Given the description of an element on the screen output the (x, y) to click on. 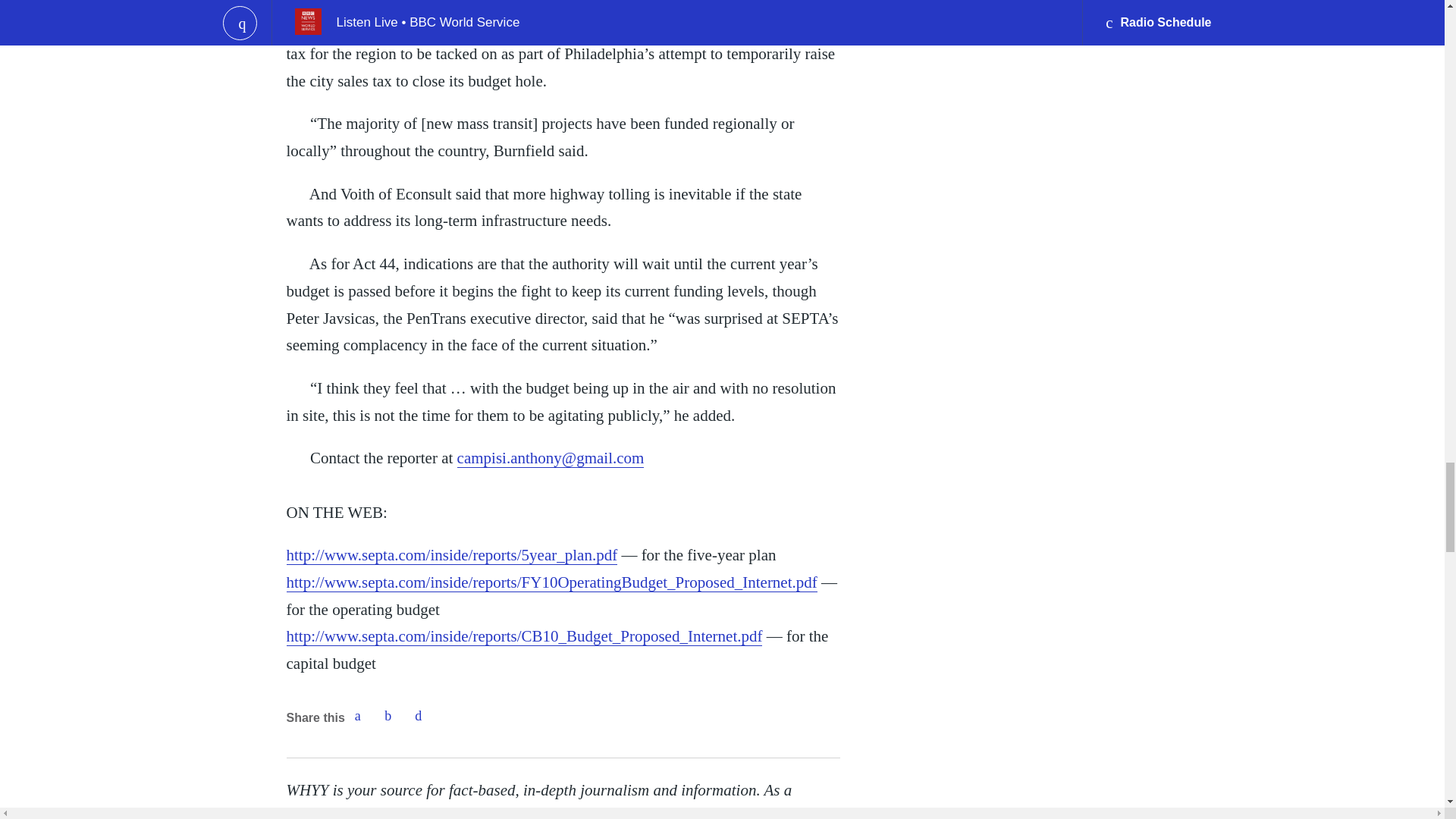
Facebook (357, 716)
Twitter (387, 716)
Email (418, 716)
